Given the description of an element on the screen output the (x, y) to click on. 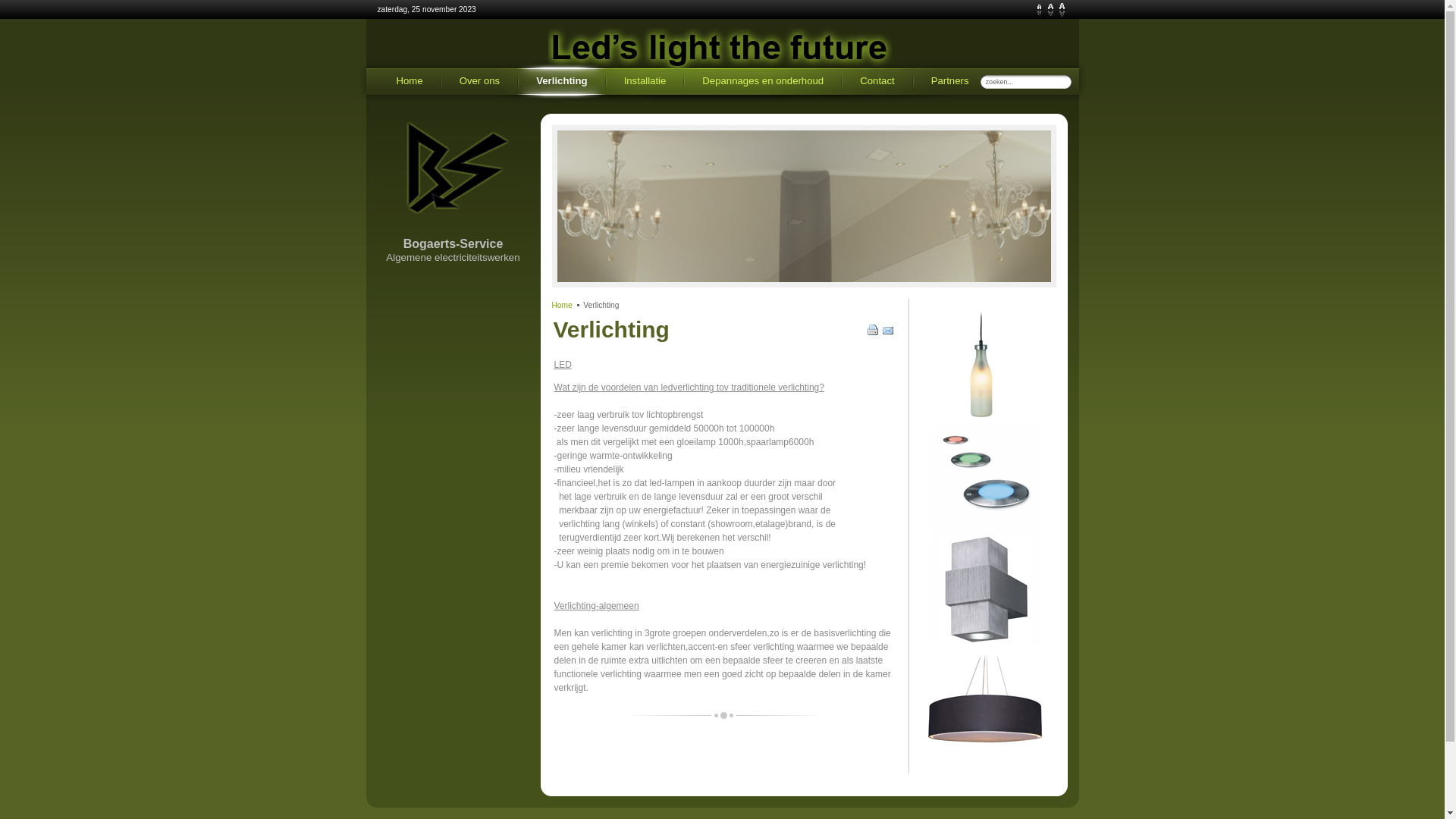
Home Element type: text (408, 81)
Photo Title 2 Element type: hover (803, 206)
Default font size Element type: hover (1050, 9)
E-mail Element type: hover (888, 332)
Contact Element type: text (875, 81)
Afdrukken Element type: hover (873, 332)
Depannages en onderhoud Element type: text (761, 81)
Verlichting Element type: text (560, 81)
Over ons Element type: text (478, 81)
Decrease font size Element type: hover (1038, 9)
Installatie Element type: text (644, 81)
Partners Element type: text (949, 81)
Increase font size Element type: hover (1060, 9)
Home Element type: text (562, 305)
